Given the description of an element on the screen output the (x, y) to click on. 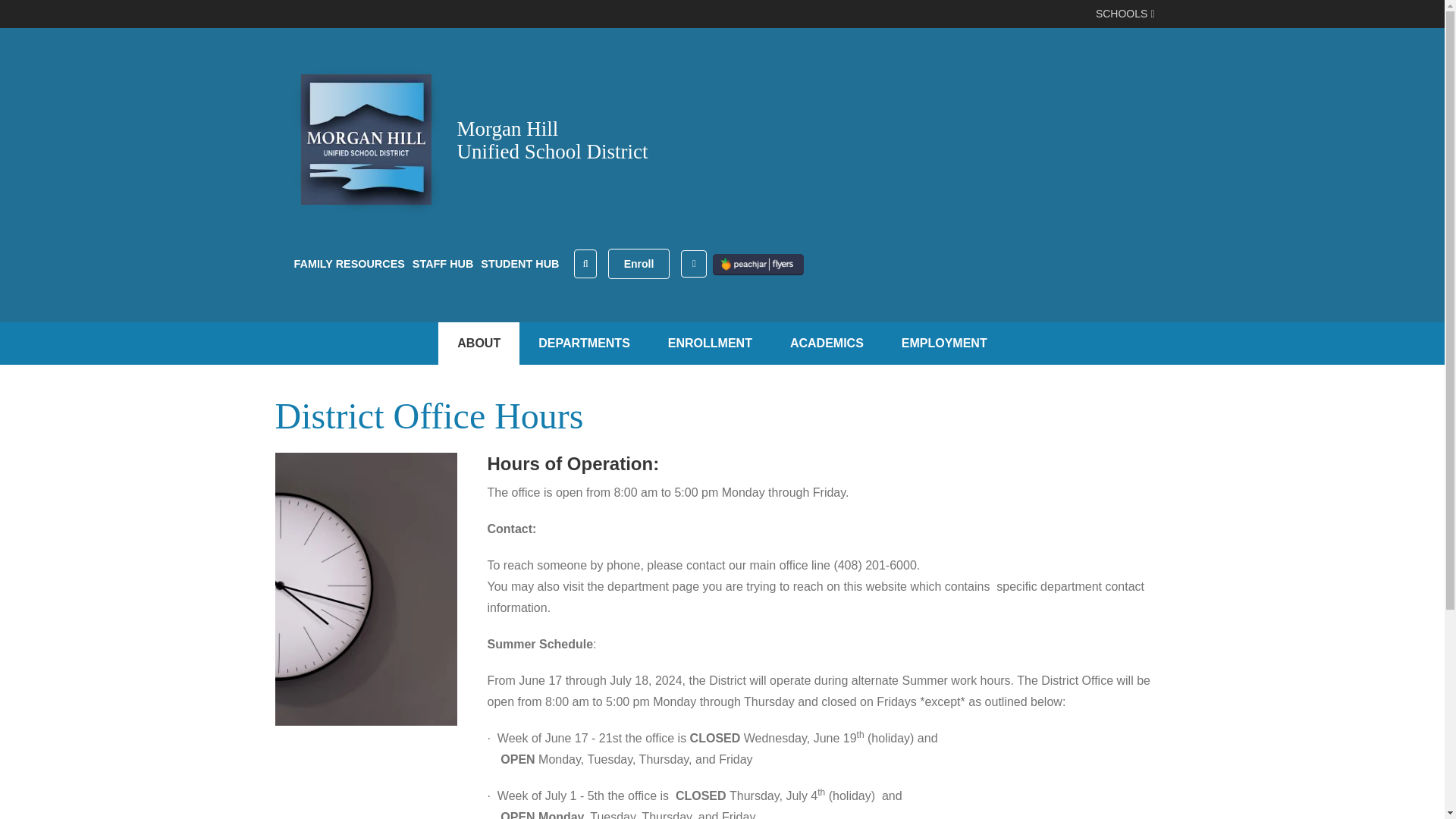
Translate (697, 263)
Search (584, 263)
Morgan Hill Unified School District (365, 139)
